Given the description of an element on the screen output the (x, y) to click on. 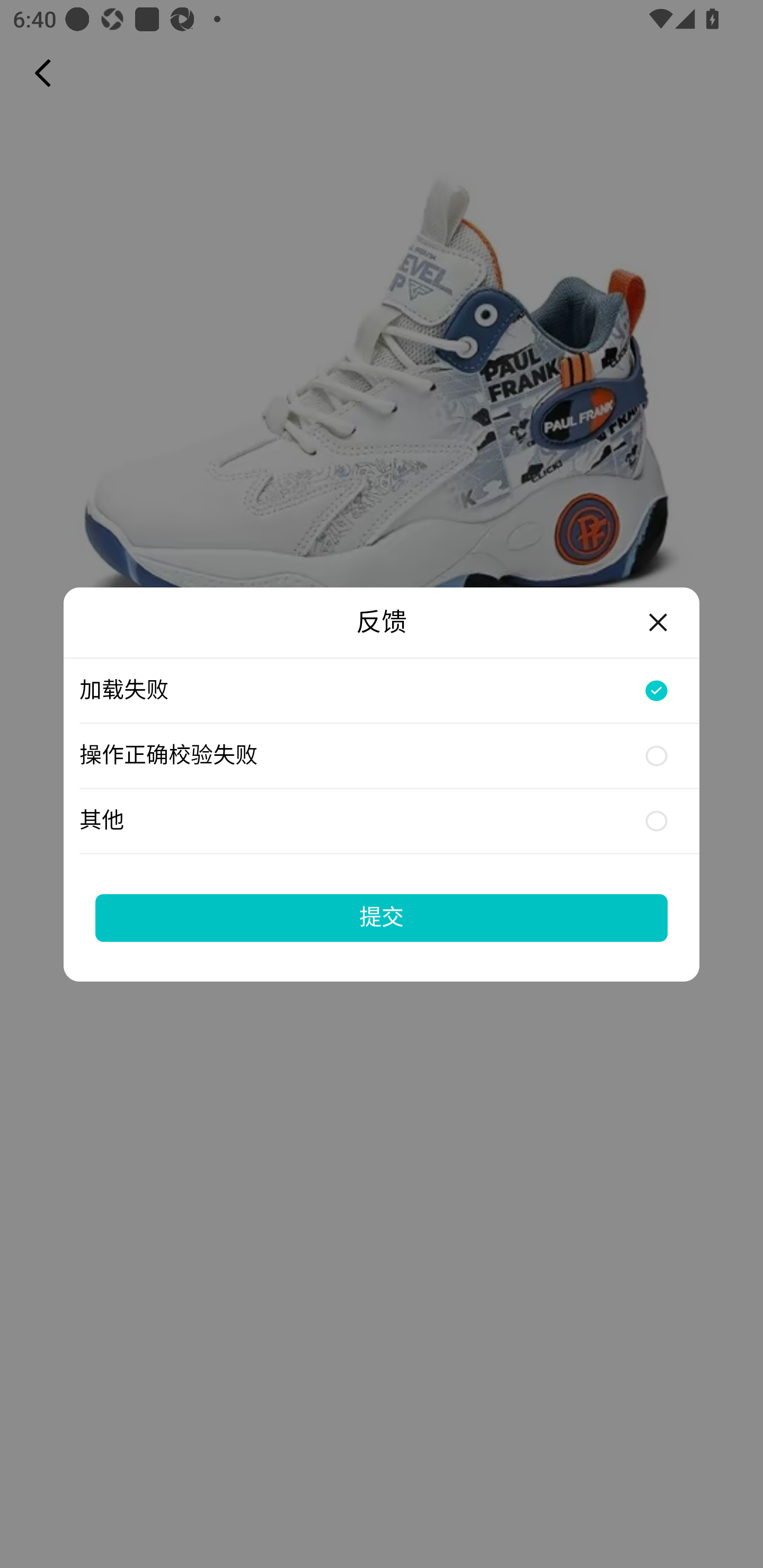
提交 (381, 917)
